Given the description of an element on the screen output the (x, y) to click on. 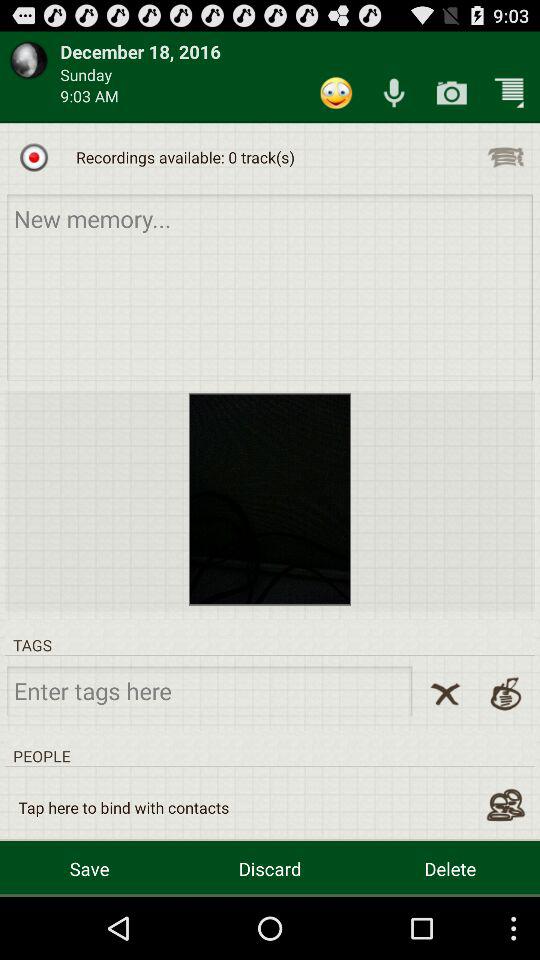
delet (445, 694)
